Given the description of an element on the screen output the (x, y) to click on. 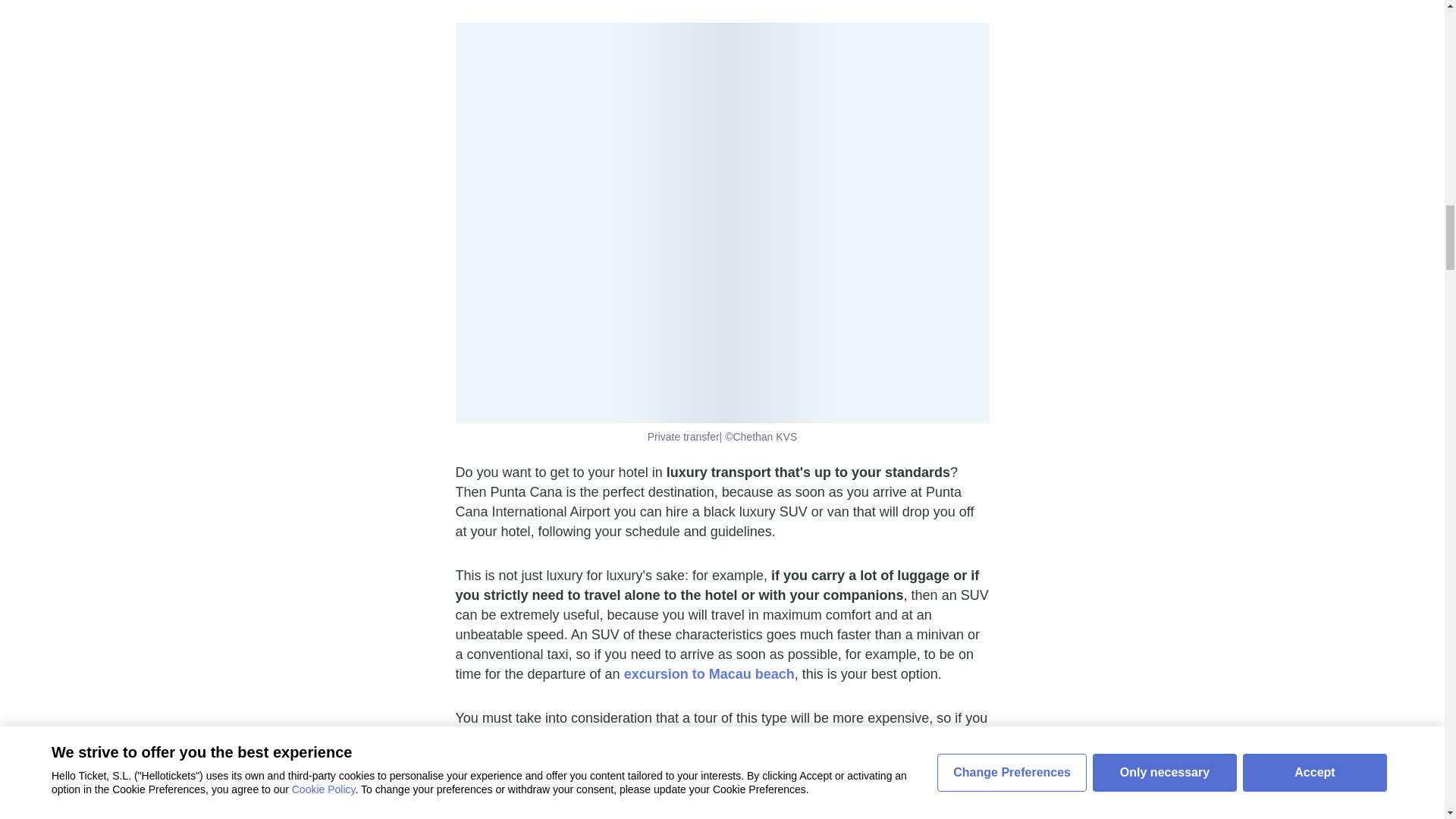
excursion to Macau beach (709, 673)
Uvero Alto (729, 776)
